Given the description of an element on the screen output the (x, y) to click on. 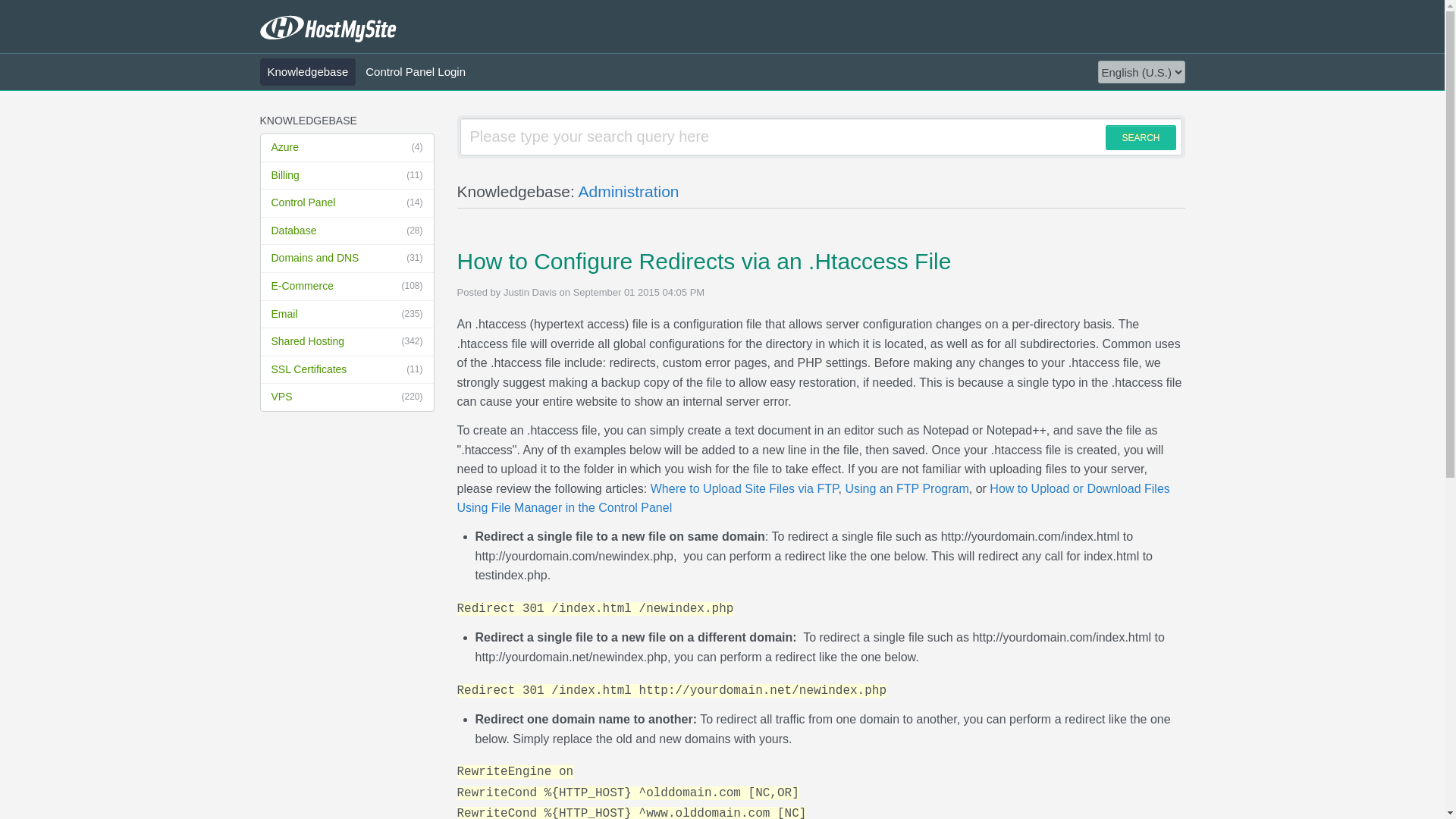
Administration (628, 190)
Please type your search query here (820, 136)
Please type your search query here (820, 136)
Control Panel Login (415, 71)
Using an FTP Program (906, 488)
Knowledgebase (307, 71)
Where to Upload Site Files via FTP (744, 488)
Login (403, 296)
SEARCH (1139, 137)
